Given the description of an element on the screen output the (x, y) to click on. 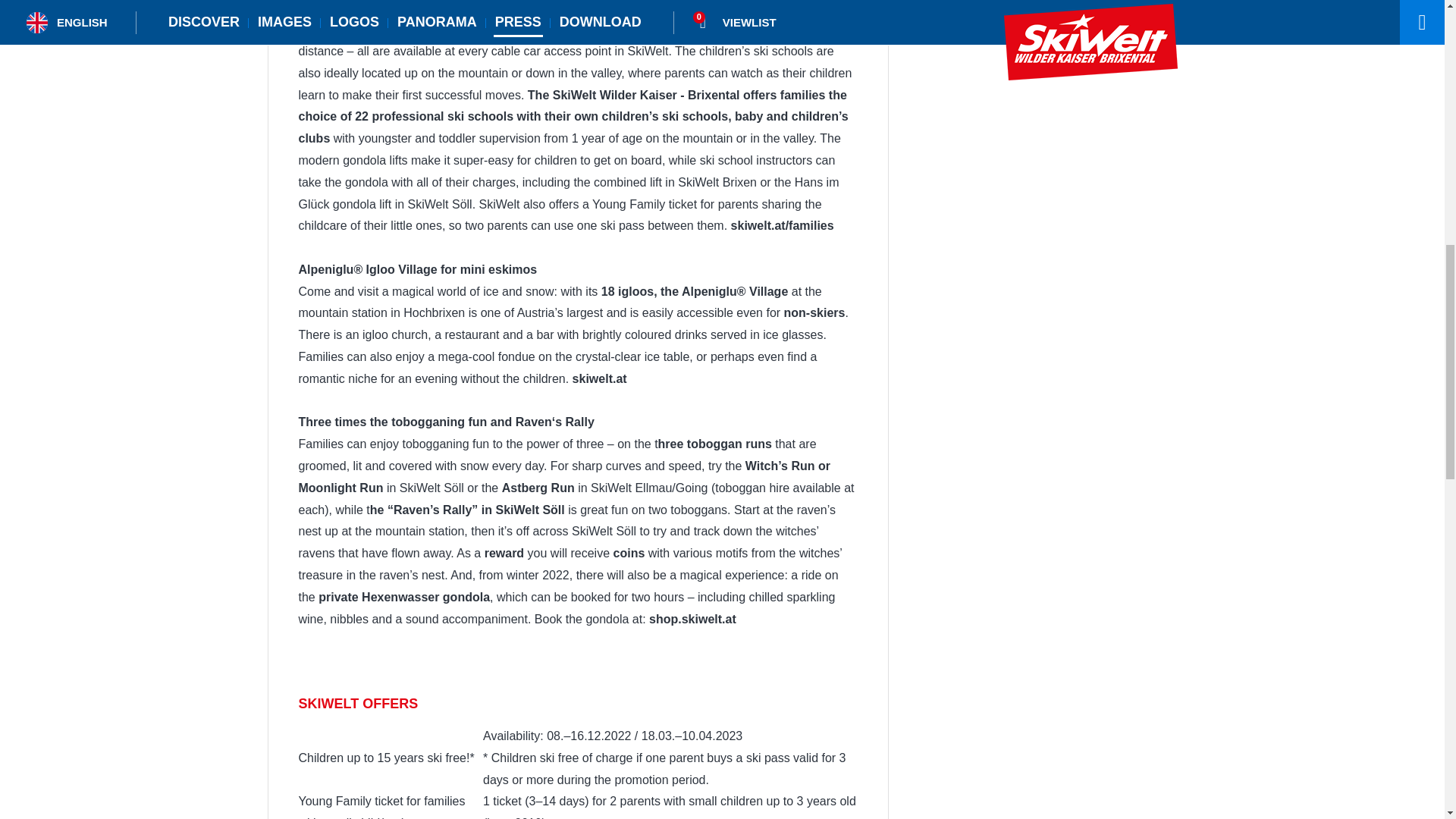
shop.skiwelt.at (692, 618)
skiwelt.at (599, 378)
skiwelt.at (599, 378)
shop.skiwelt.at (692, 618)
